Given the description of an element on the screen output the (x, y) to click on. 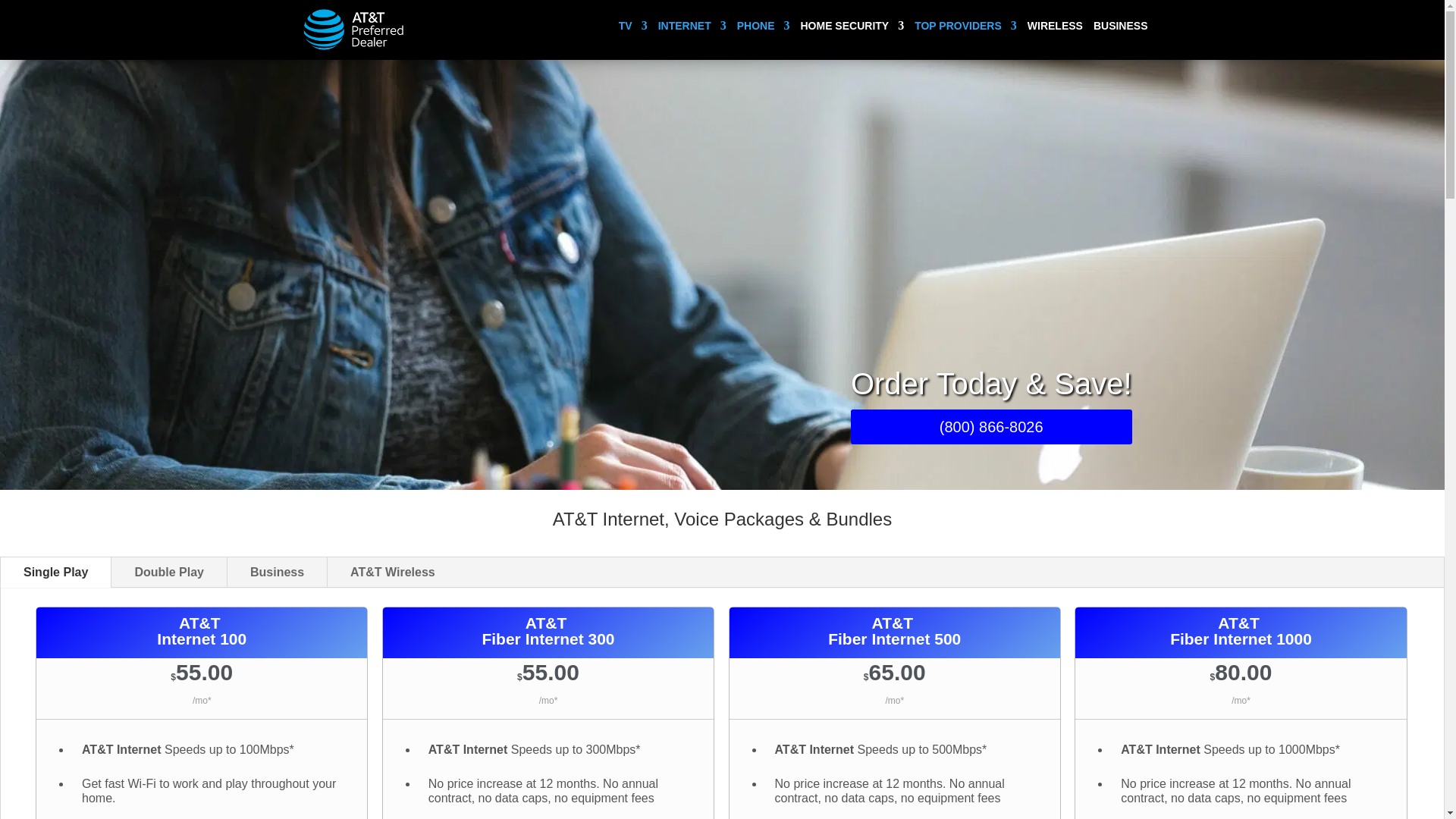
INTERNET (692, 34)
PHONE (763, 34)
TV (632, 34)
